Given the description of an element on the screen output the (x, y) to click on. 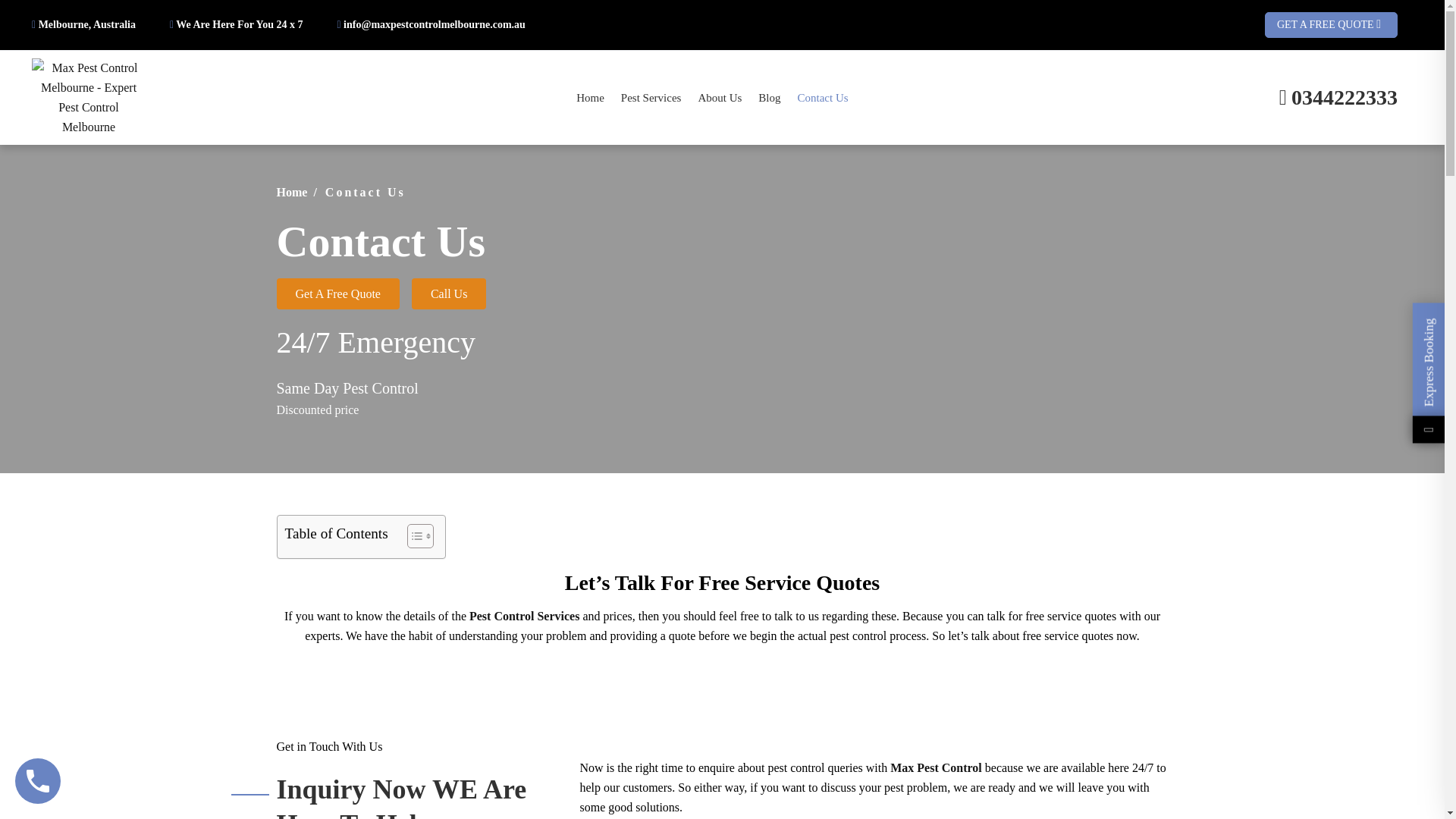
Max Pest Control Element type: text (936, 767)
Home Element type: text (589, 97)
Call Us Element type: text (448, 293)
GET A FREE QUOTE Element type: text (1330, 25)
Contact Us Element type: text (823, 97)
Home Element type: text (291, 191)
Pest Control Services Element type: text (524, 615)
About Us Element type: text (719, 97)
Blog Element type: text (768, 97)
Pest Services Element type: text (651, 97)
Get A Free Quote Element type: text (337, 293)
0344222333 Element type: text (1344, 97)
